Given the description of an element on the screen output the (x, y) to click on. 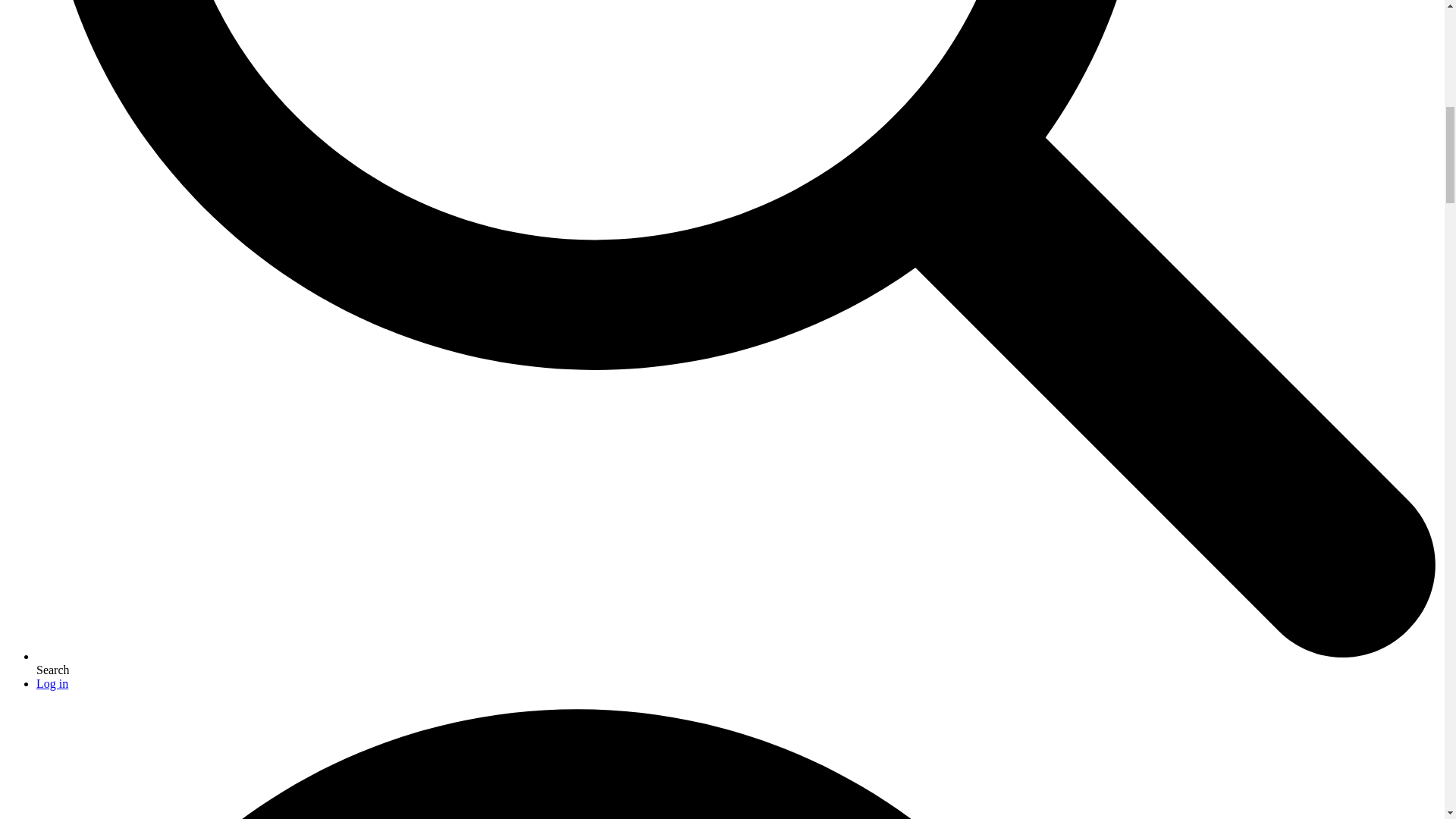
Log in (52, 683)
